Given the description of an element on the screen output the (x, y) to click on. 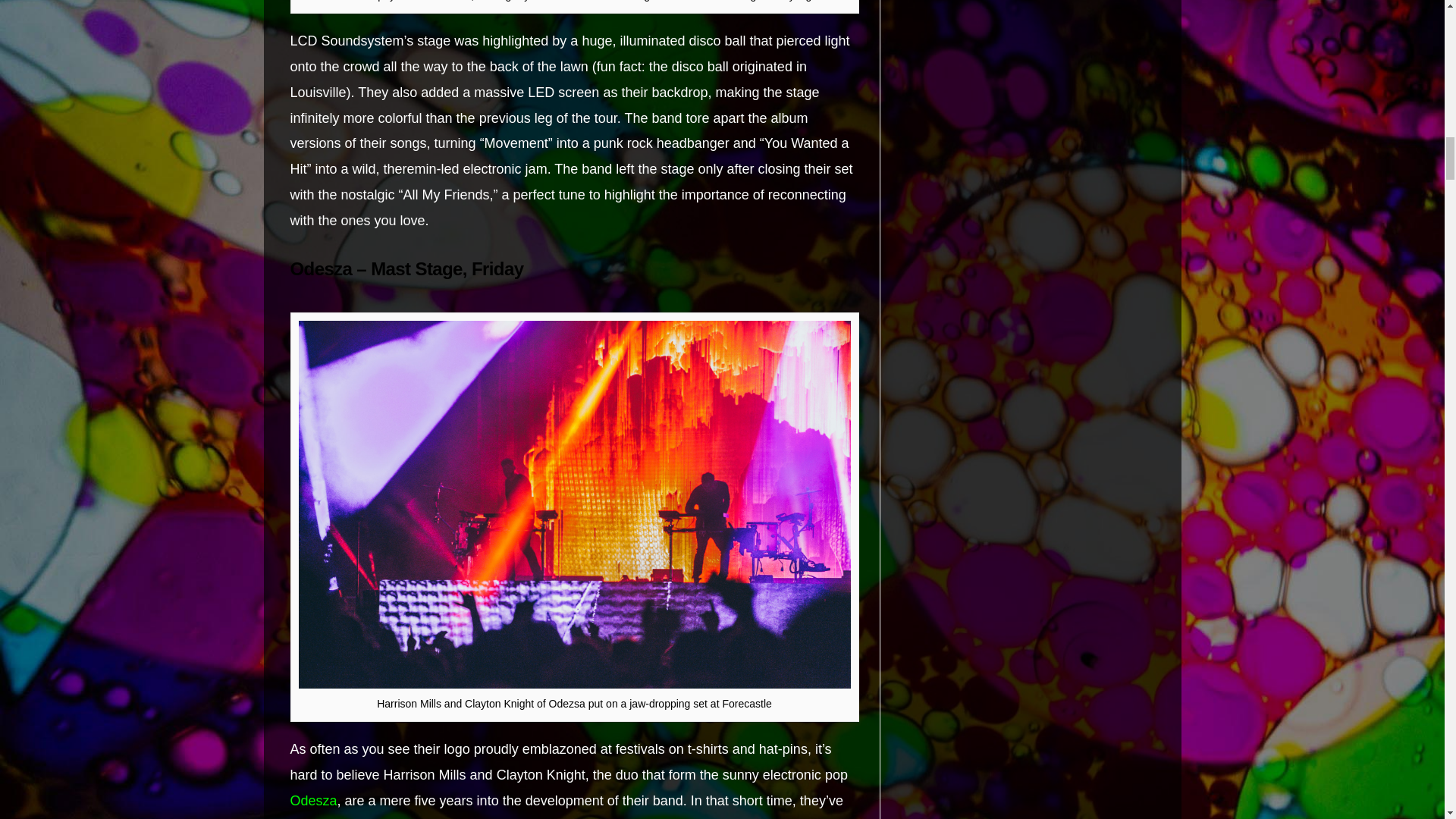
Odesza (312, 800)
